Given the description of an element on the screen output the (x, y) to click on. 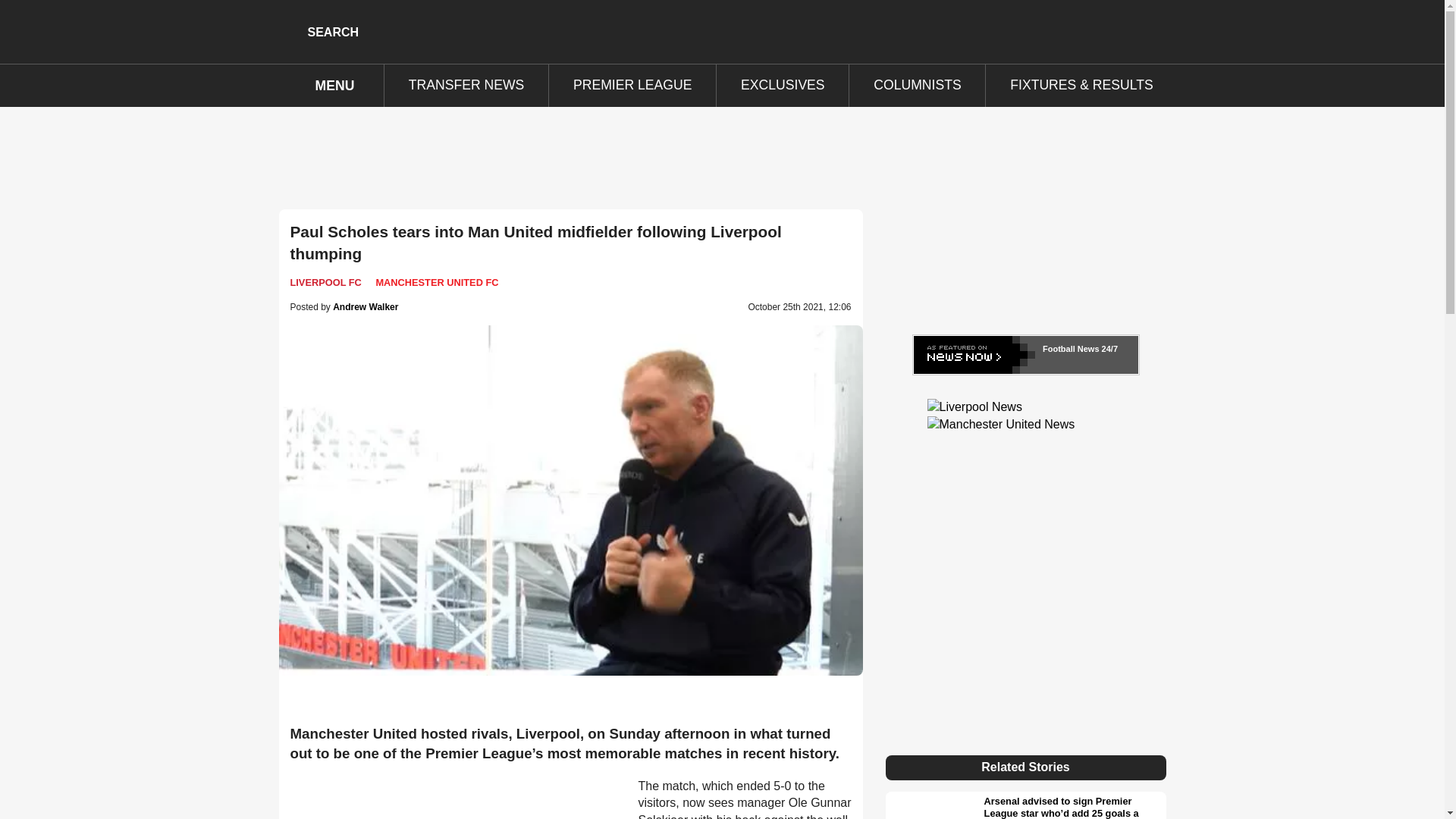
Menu (325, 85)
EXCLUSIVES (782, 85)
PREMIER LEAGUE (632, 85)
Search (319, 30)
TRANSFER NEWS (466, 85)
Twitter (1155, 30)
